Given the description of an element on the screen output the (x, y) to click on. 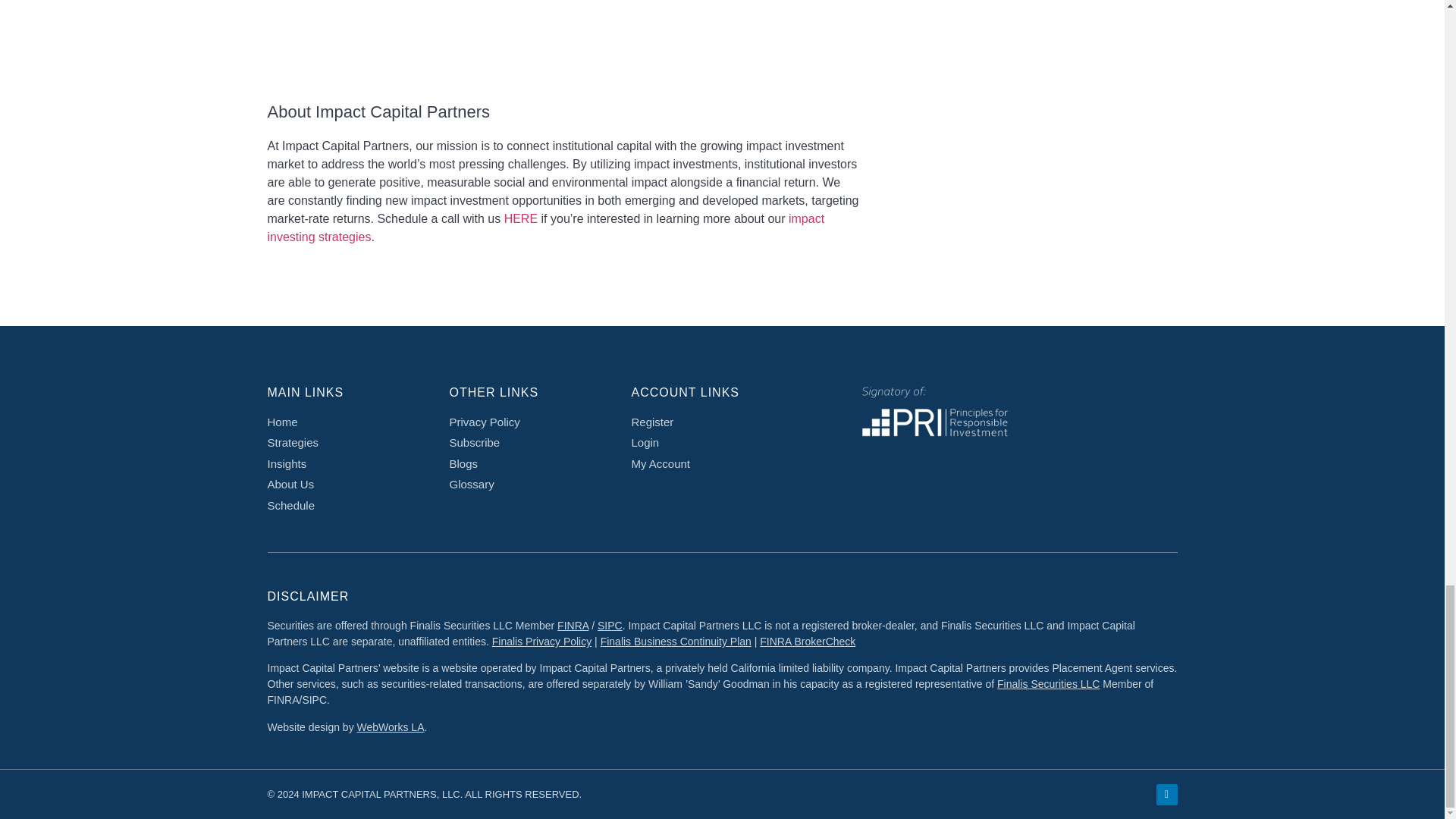
impact investing strategies (545, 227)
HERE (520, 218)
